Given the description of an element on the screen output the (x, y) to click on. 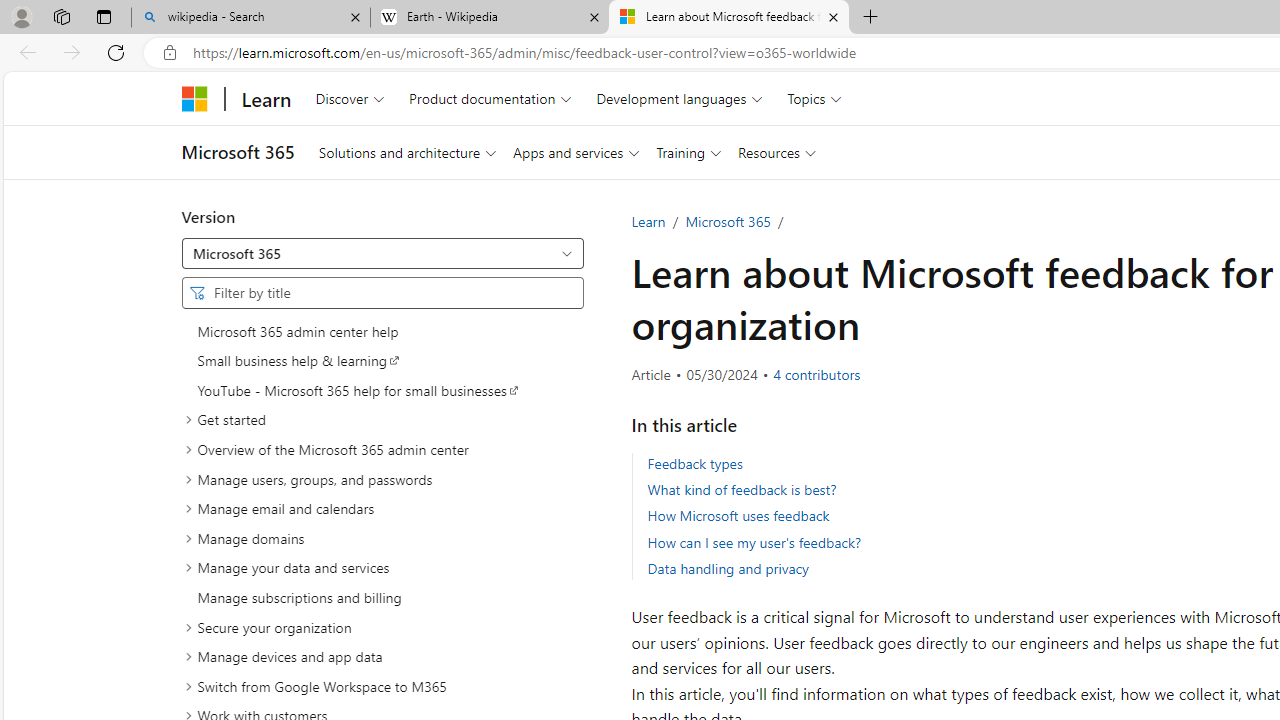
What kind of feedback is best? (741, 489)
Development languages (679, 98)
Microsoft 365 (381, 253)
Development languages (679, 98)
Topics (815, 98)
Learn (648, 221)
Skip to main content (18, 86)
How can I see my user's feedback? (753, 542)
Resources (777, 152)
Product documentation (490, 98)
Close tab (833, 16)
Discover (349, 98)
Microsoft 365 (727, 221)
Back (24, 52)
